Given the description of an element on the screen output the (x, y) to click on. 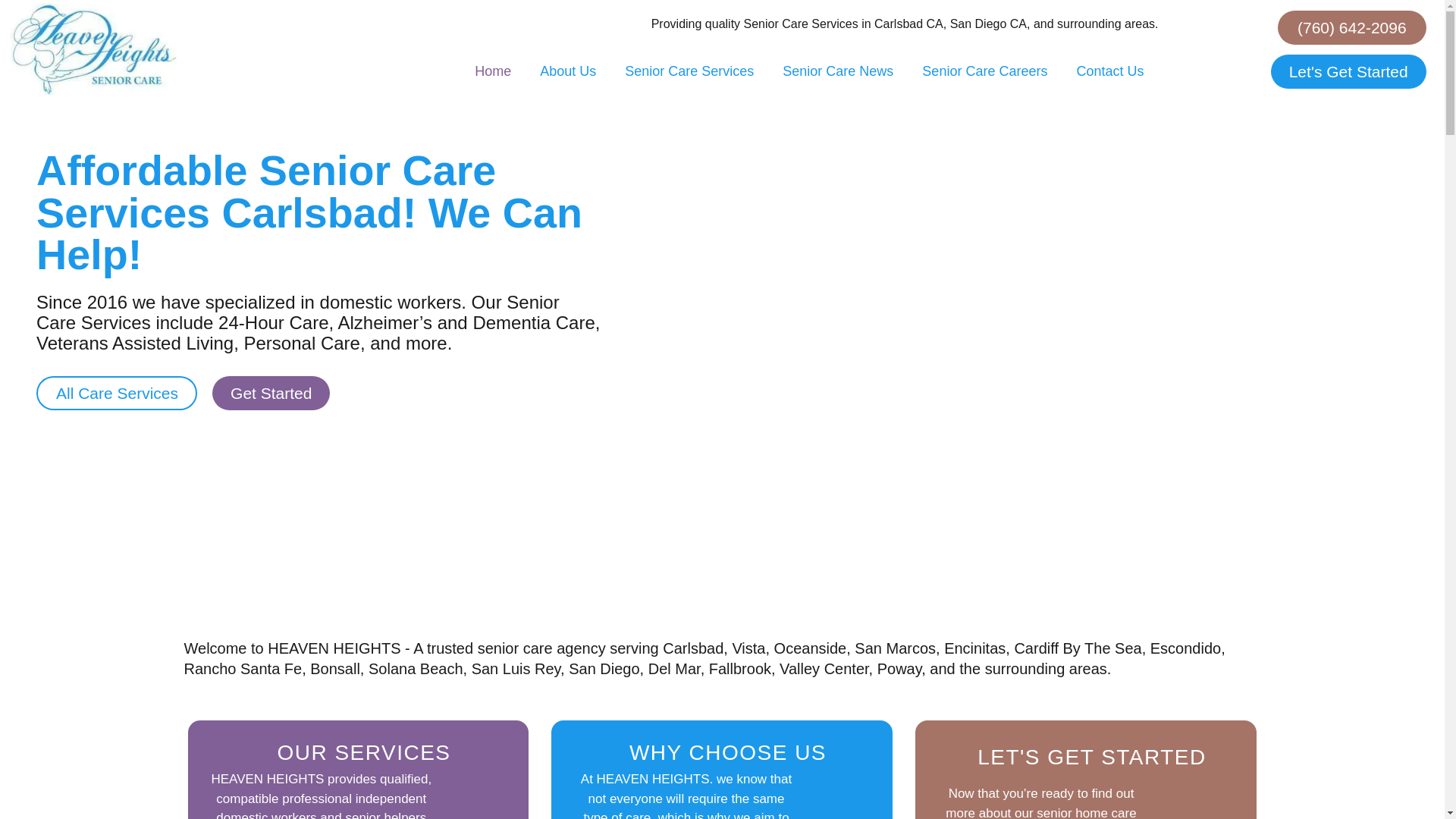
Get Started (271, 392)
All Care Services (116, 392)
Senior Care Services (689, 70)
About Us (567, 70)
Senior Care Careers (984, 70)
Senior Care News (837, 70)
Contact Us (1109, 70)
Home (492, 70)
Let's Get Started (1348, 71)
